Given the description of an element on the screen output the (x, y) to click on. 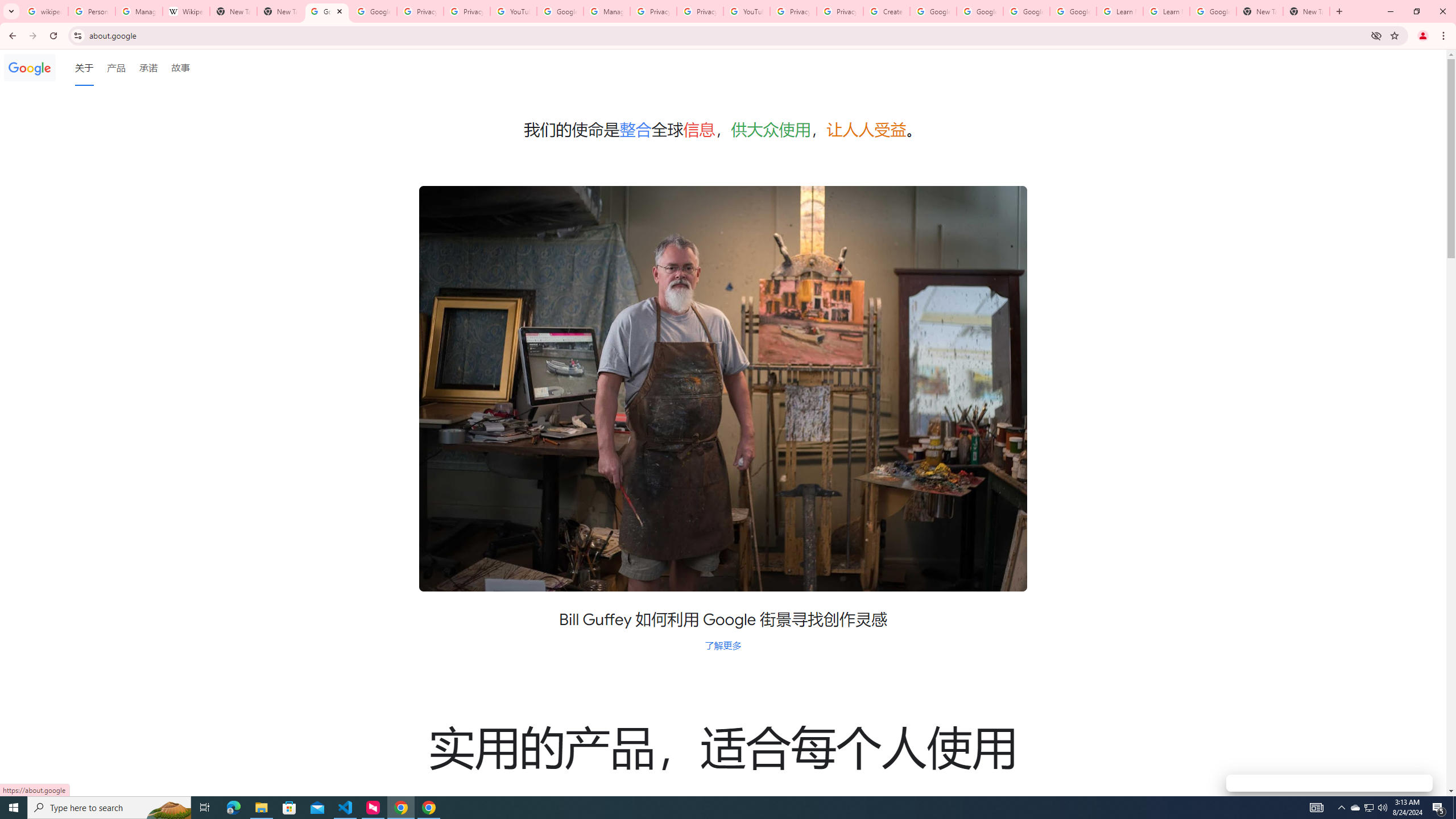
Google Account Help (1026, 11)
New Tab (1306, 11)
